Given the description of an element on the screen output the (x, y) to click on. 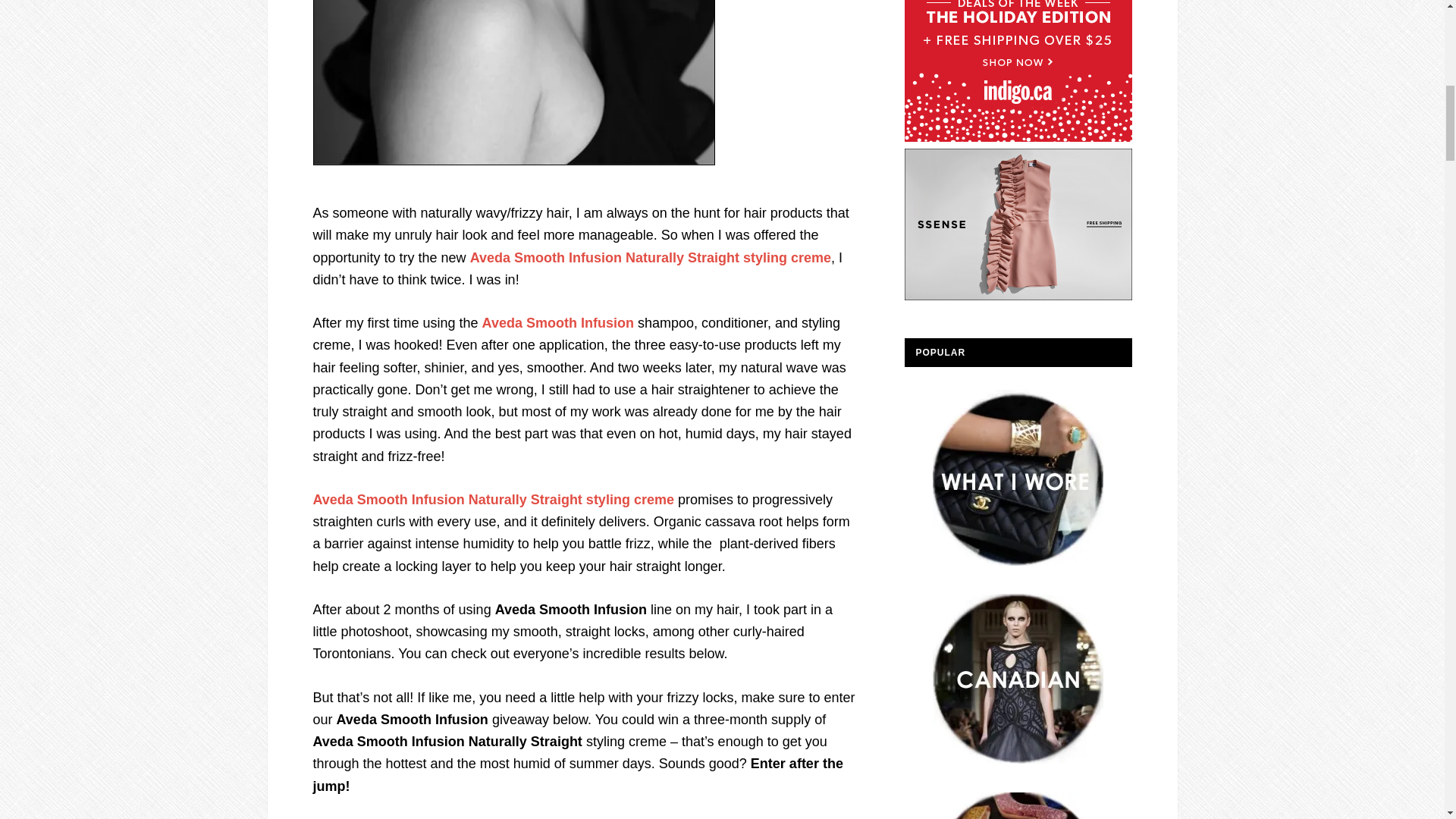
Aveda Smooth Infusion Naturally Straight styling creme (650, 257)
Aveda Smooth Infusion Naturally Straight styling creme (492, 499)
Aveda Smooth Infusion (557, 322)
